Given the description of an element on the screen output the (x, y) to click on. 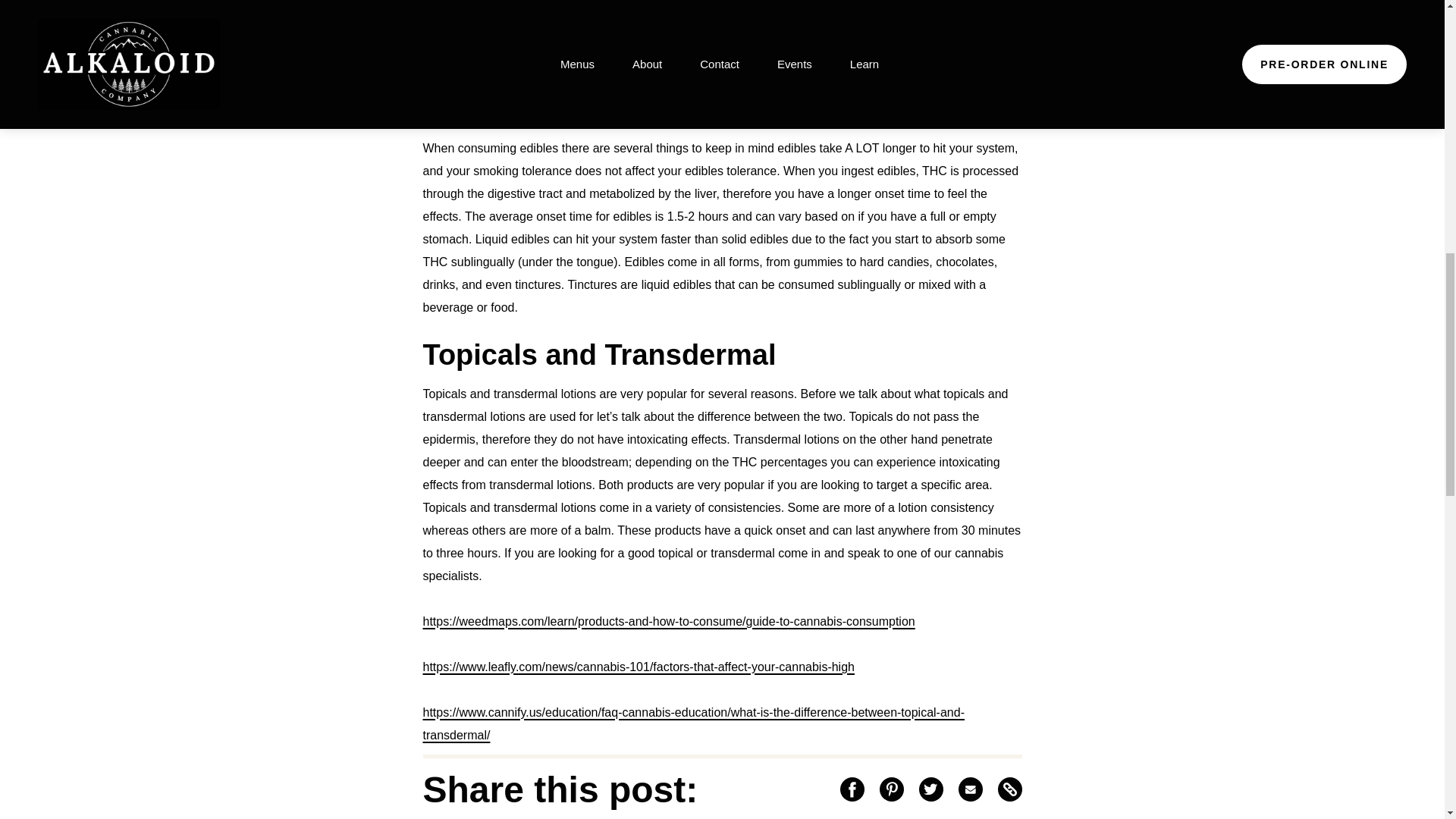
Share this post via Email (970, 789)
Share this post on Twitter (930, 789)
Pin this post on Pinterest (891, 789)
Share this post on Facebook (852, 789)
Copy this post to your clipboard (1009, 789)
